Given the description of an element on the screen output the (x, y) to click on. 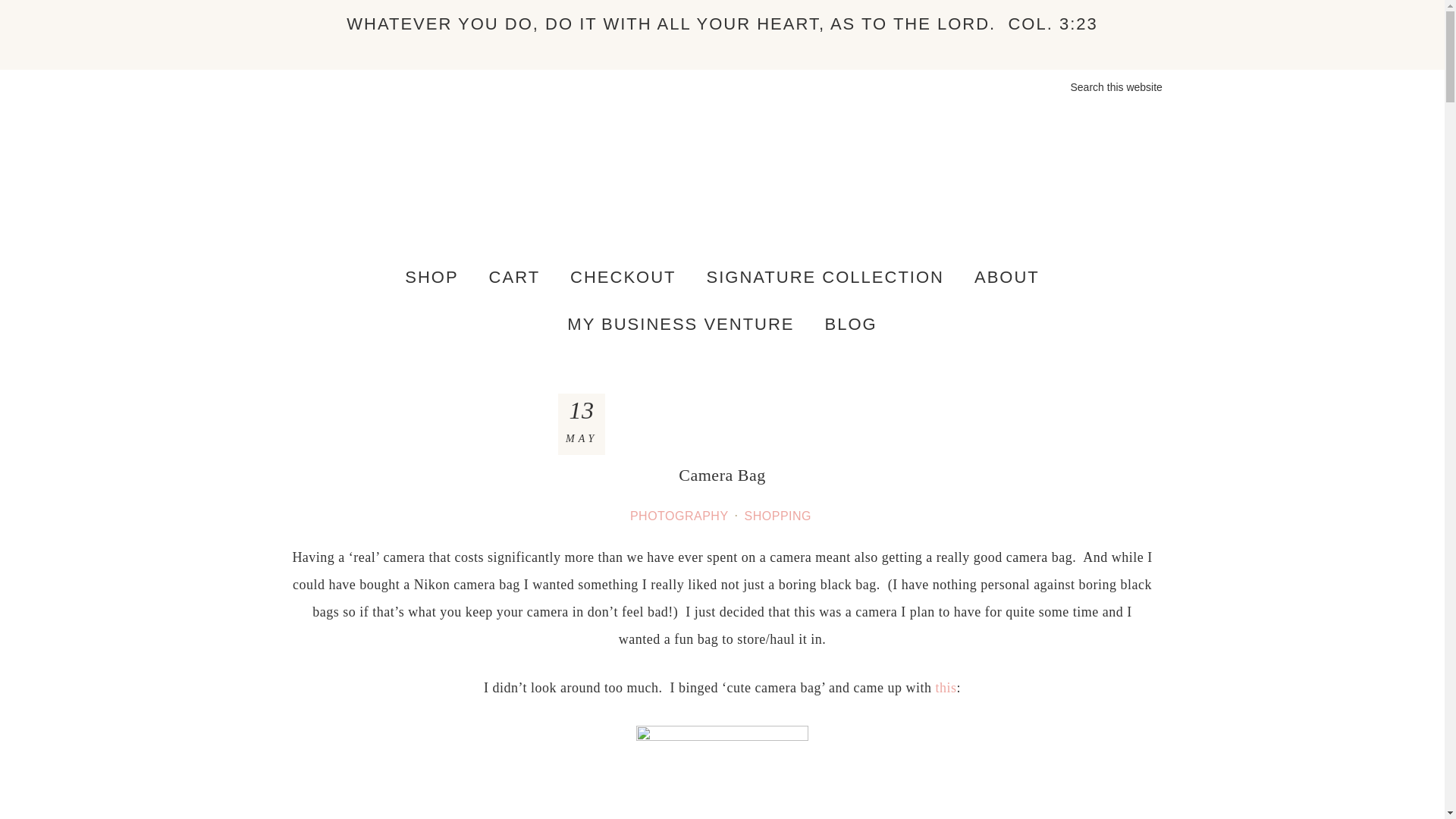
PHOTOGRAPHY (681, 515)
this (946, 687)
SHOPPING (778, 515)
Store (431, 277)
BLOG (850, 324)
ABOUT (1006, 277)
CART (515, 277)
About (1006, 277)
